Given the description of an element on the screen output the (x, y) to click on. 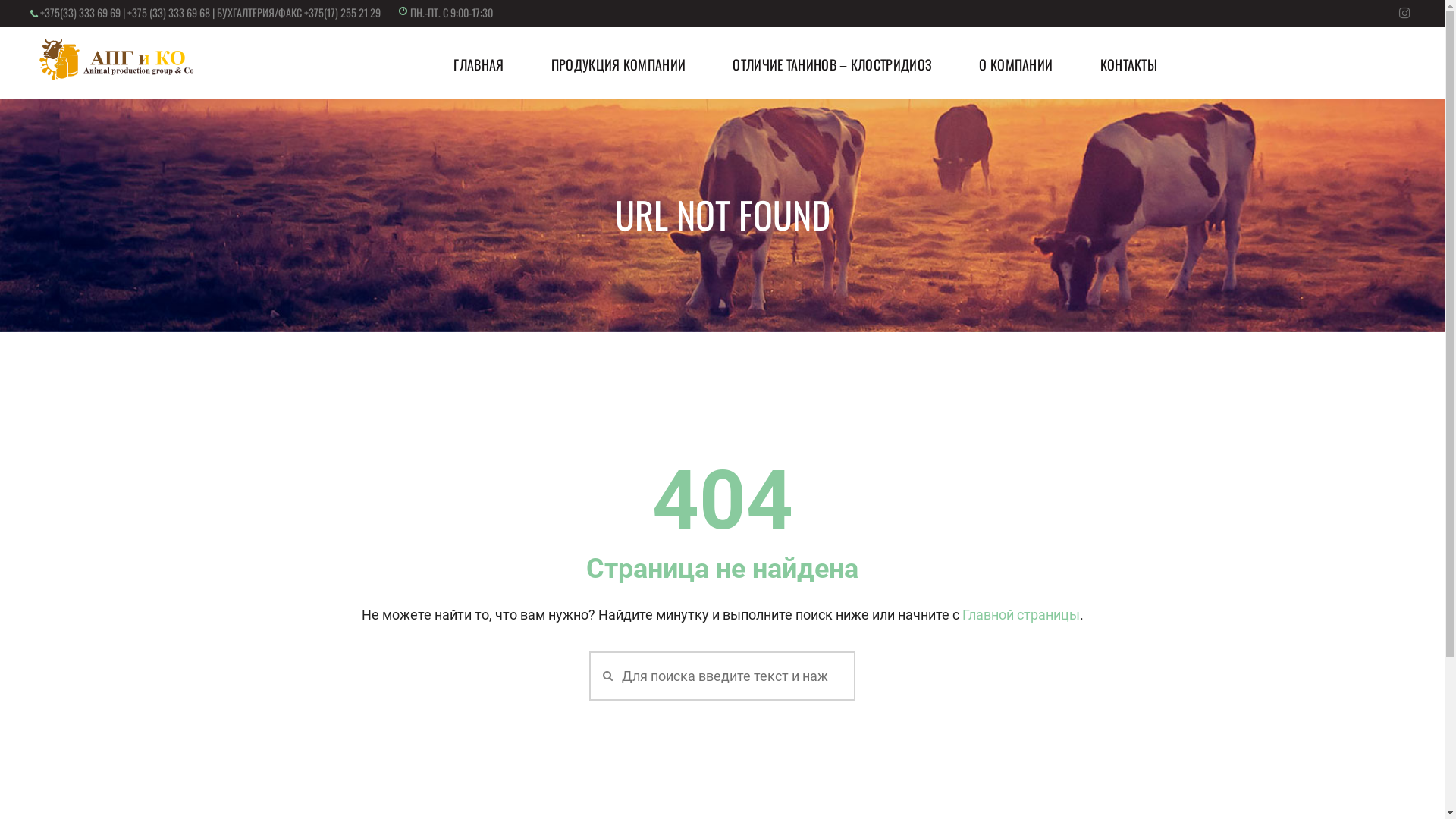
Start search Element type: hover (605, 675)
